Given the description of an element on the screen output the (x, y) to click on. 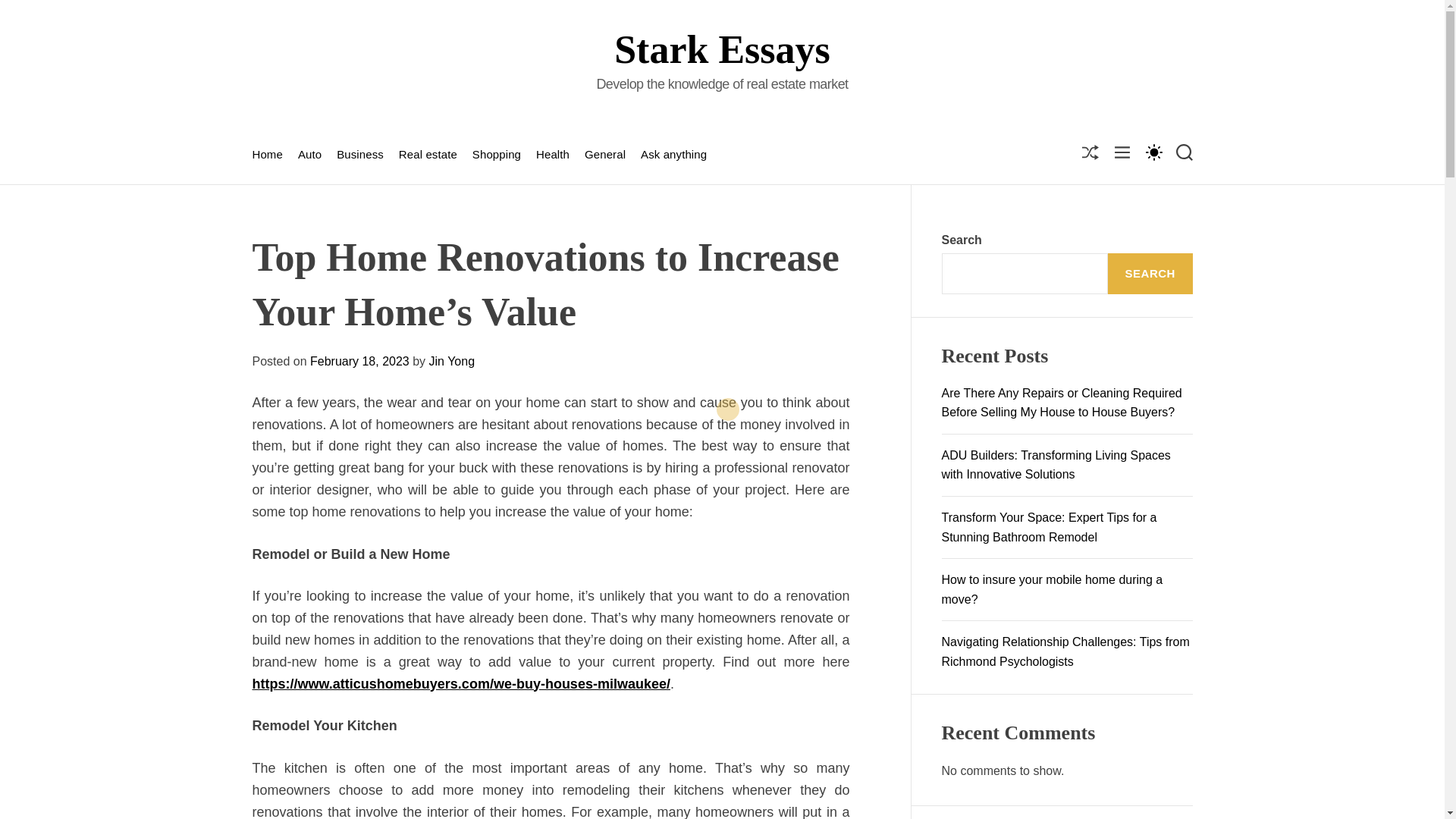
Ask anything (673, 154)
Business (360, 154)
SWITCH COLOR MODE (1152, 151)
Real estate (427, 154)
Home (266, 154)
Stark Essays (721, 49)
Jin Yong (452, 360)
Shopping (496, 154)
Health (552, 154)
General (605, 154)
